Given the description of an element on the screen output the (x, y) to click on. 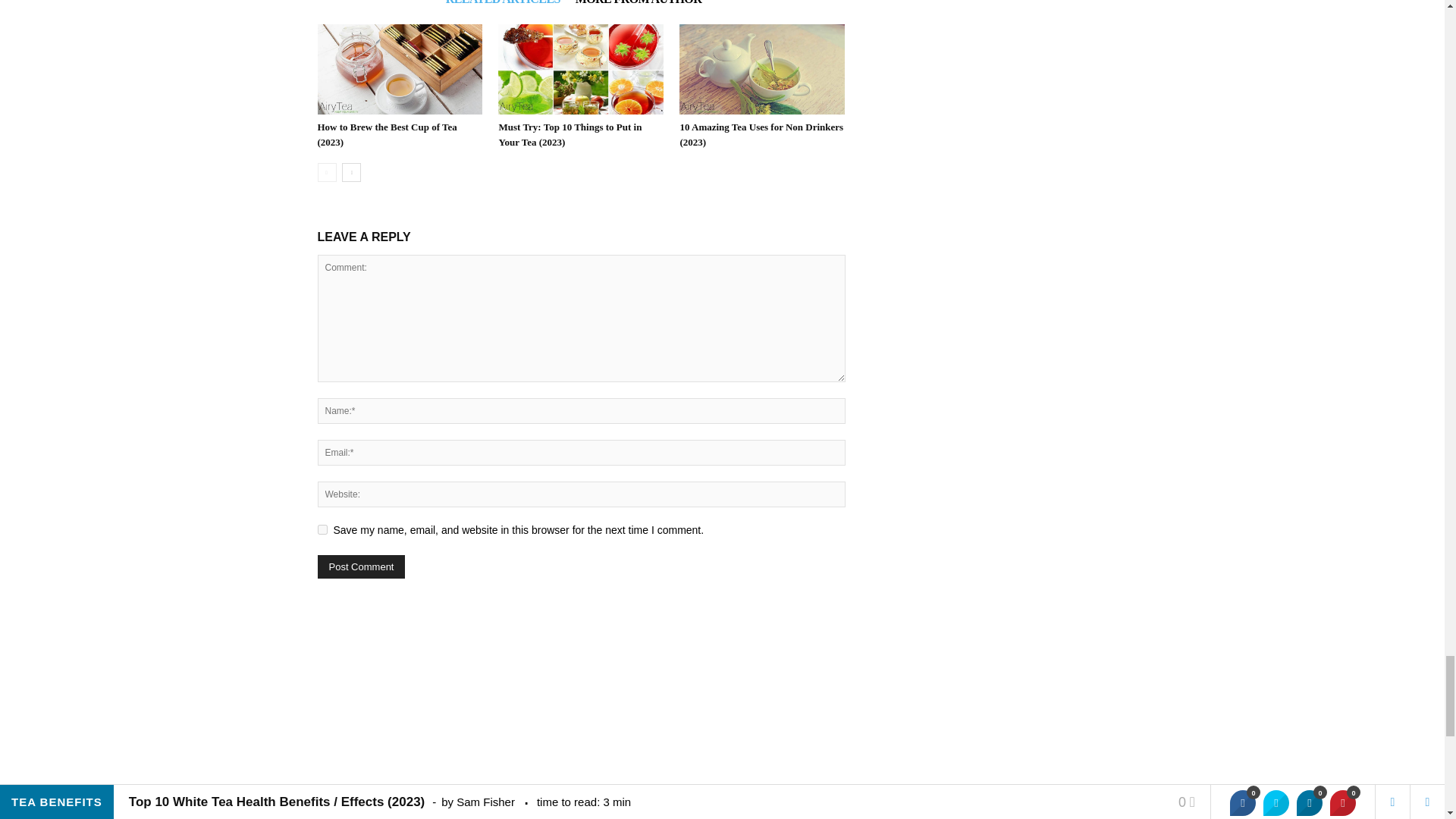
yes (321, 529)
Post Comment (360, 566)
